Given the description of an element on the screen output the (x, y) to click on. 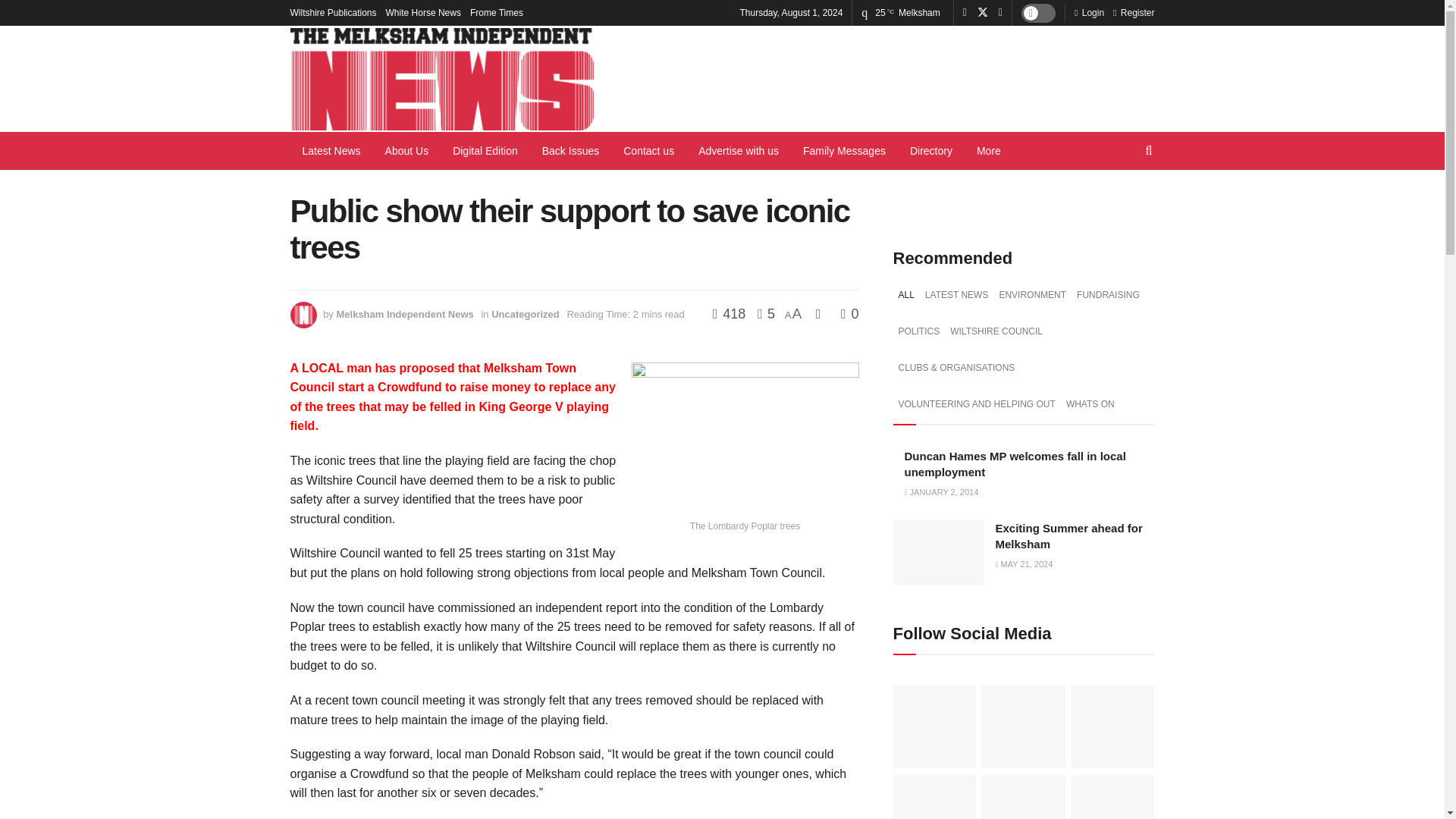
Advertise with us (737, 150)
Family Messages (844, 150)
Login (1088, 12)
Directory (930, 150)
Back Issues (570, 150)
Contact us (648, 150)
Register (1133, 12)
Latest News (330, 150)
More (988, 150)
Frome Times (496, 12)
About Us (406, 150)
Digital Edition (485, 150)
Wiltshire Publications (332, 12)
White Horse News (423, 12)
